Given the description of an element on the screen output the (x, y) to click on. 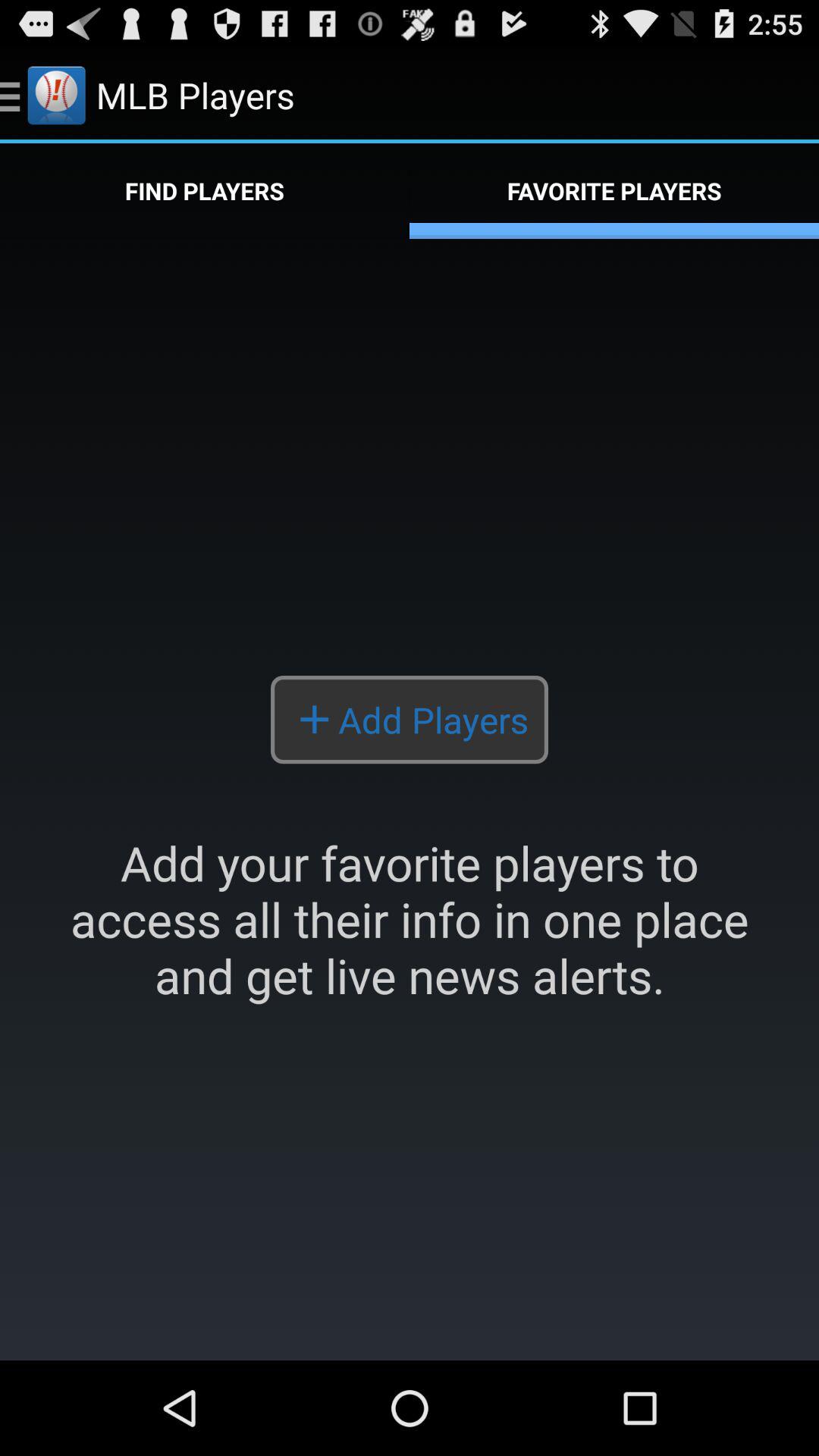
add mlb players (409, 799)
